Given the description of an element on the screen output the (x, y) to click on. 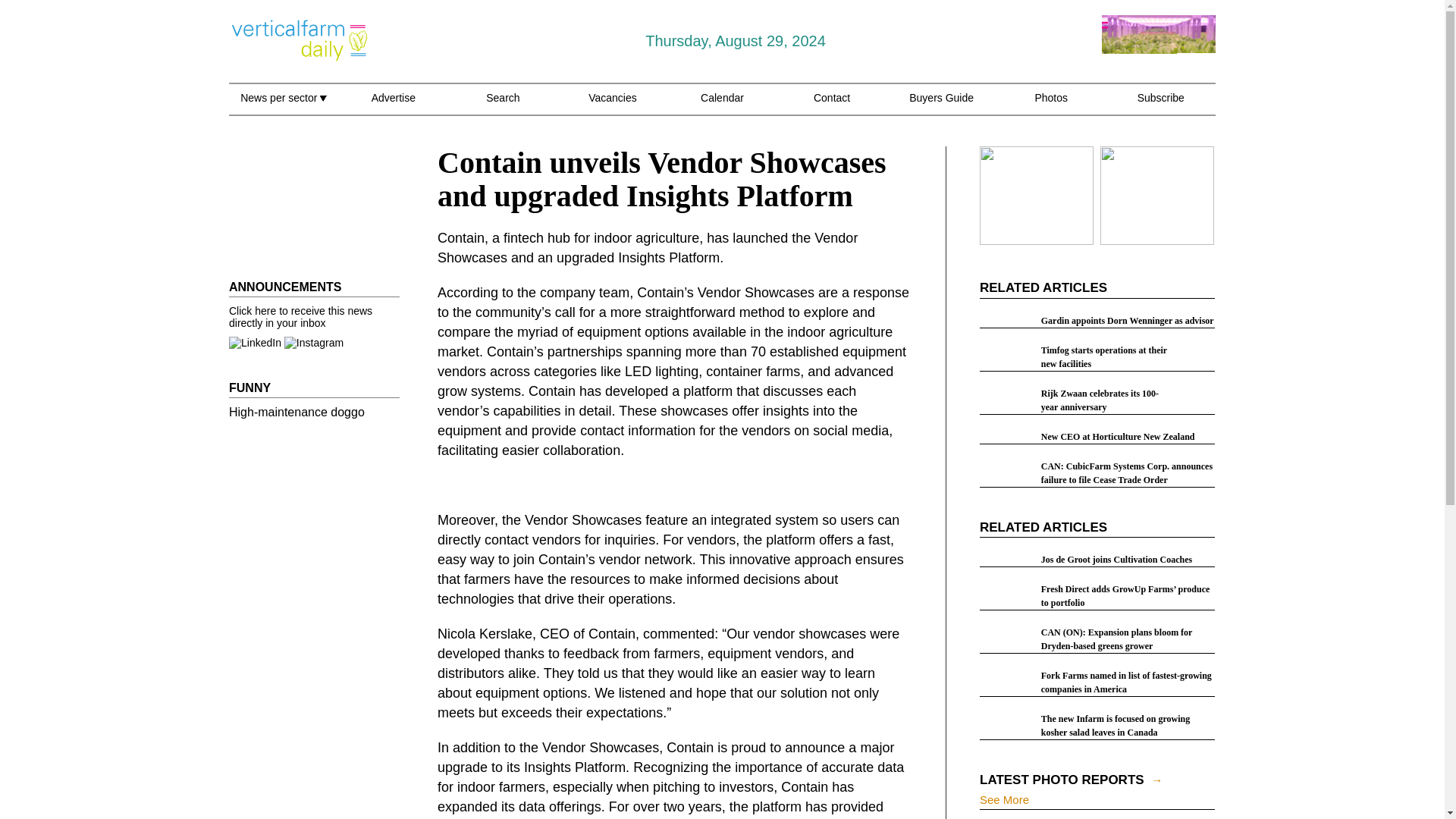
News per sector (283, 106)
Search (502, 106)
Advertise (392, 106)
